Given the description of an element on the screen output the (x, y) to click on. 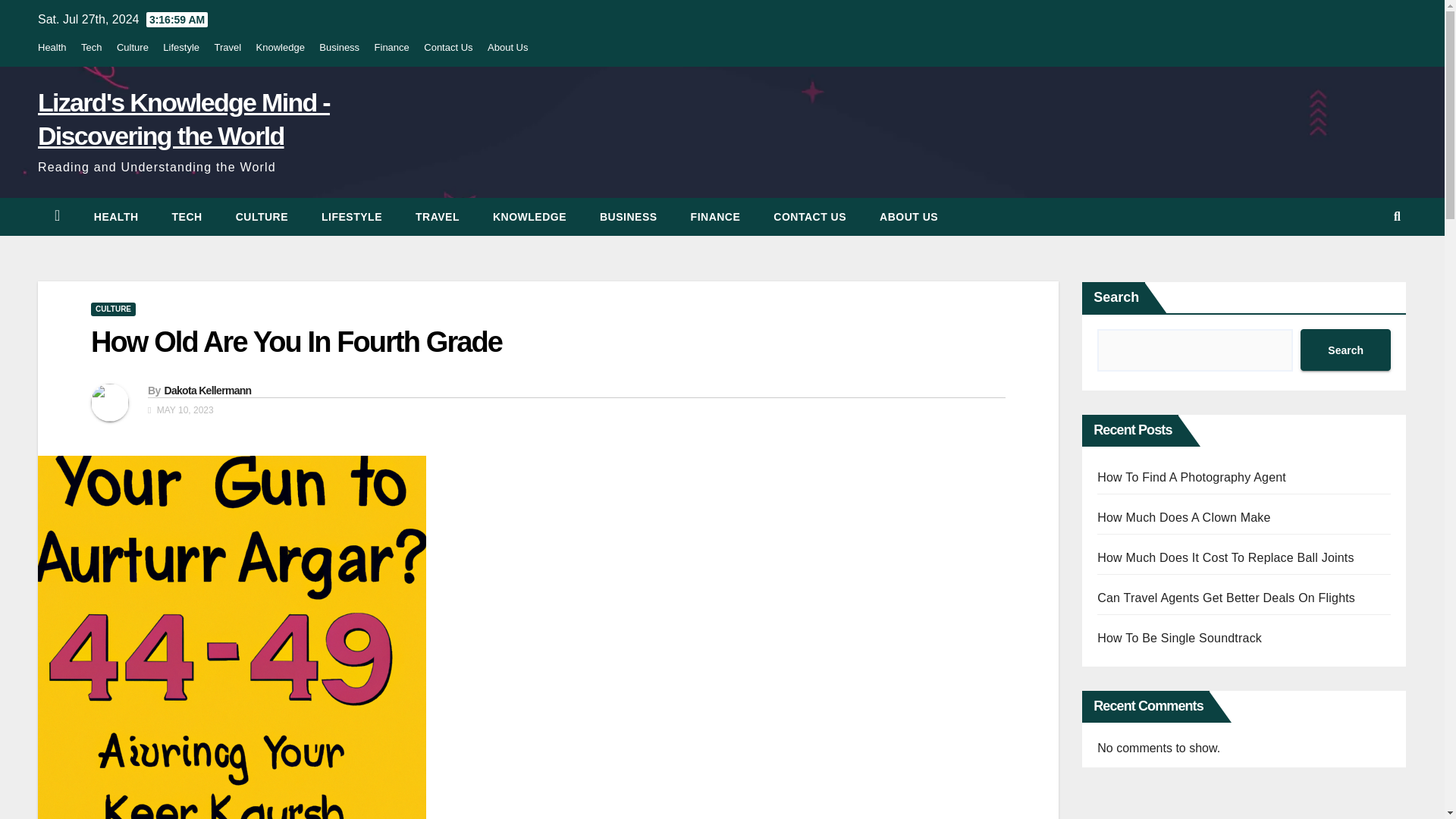
CONTACT US (810, 216)
KNOWLEDGE (529, 216)
Tech (91, 47)
HEALTH (116, 216)
Finance (715, 216)
Tech (187, 216)
FINANCE (715, 216)
Knowledge (280, 47)
TRAVEL (437, 216)
Finance (391, 47)
Contact Us (810, 216)
About Us (909, 216)
Culture (132, 47)
LIFESTYLE (351, 216)
Dakota Kellermann (206, 390)
